Given the description of an element on the screen output the (x, y) to click on. 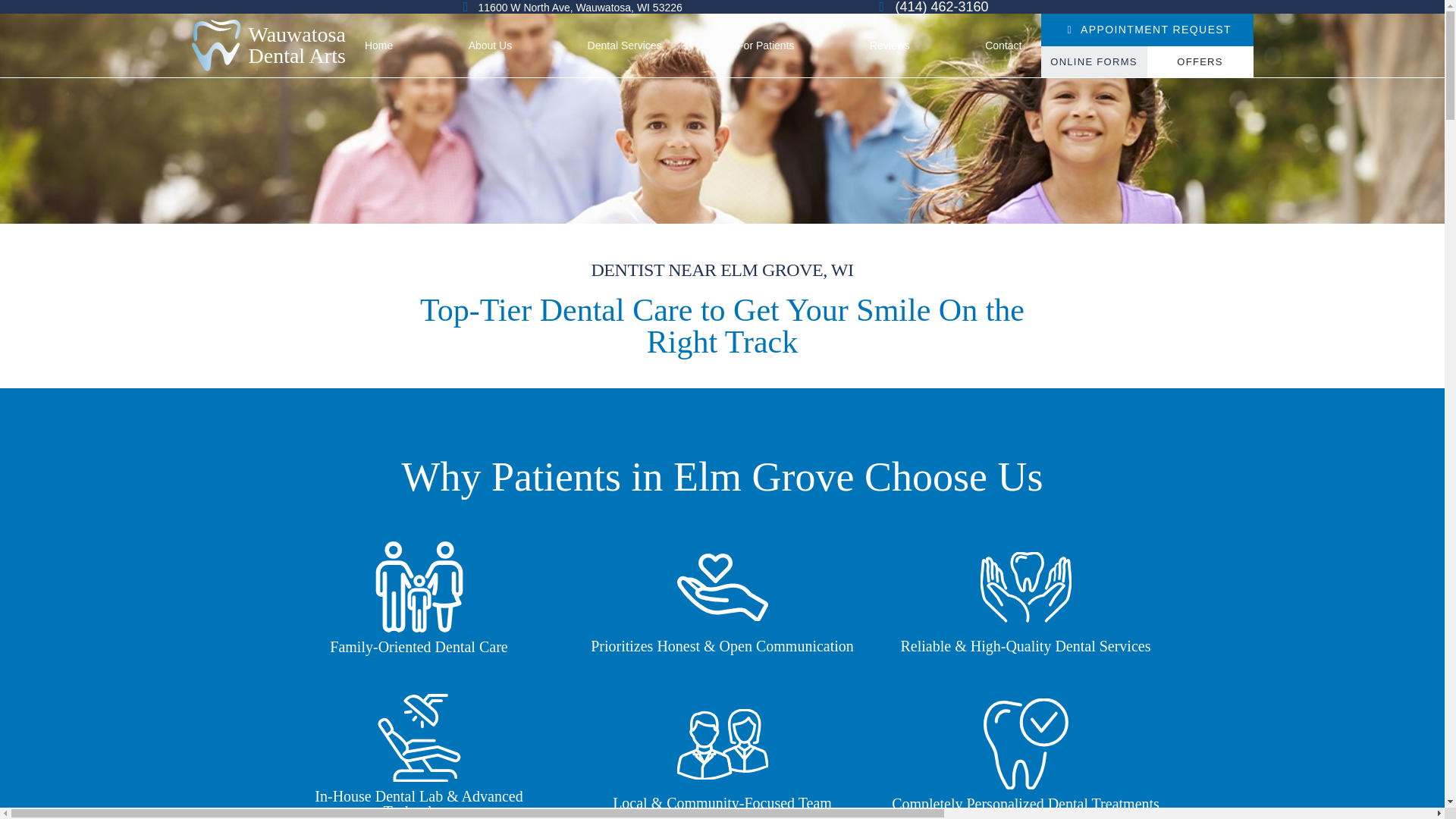
Dental Services (624, 45)
11600 W North Ave, Wauwatosa, WI 53226 (267, 45)
Dental Services (568, 7)
Home (624, 45)
About Us (378, 45)
Dentist Wauwatosa, WI (490, 45)
About Us (378, 45)
